Given the description of an element on the screen output the (x, y) to click on. 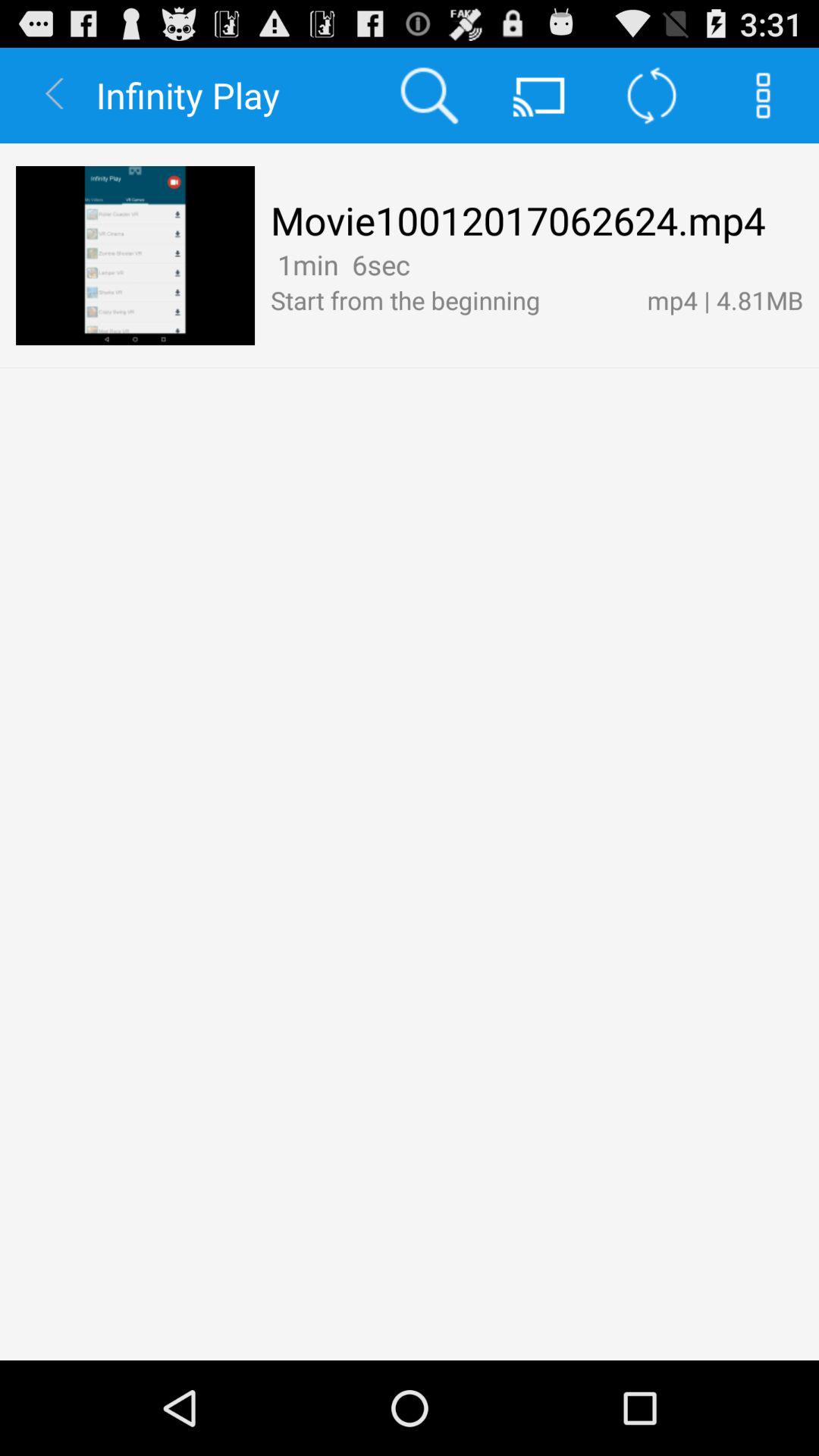
turn on start from the icon (450, 299)
